Given the description of an element on the screen output the (x, y) to click on. 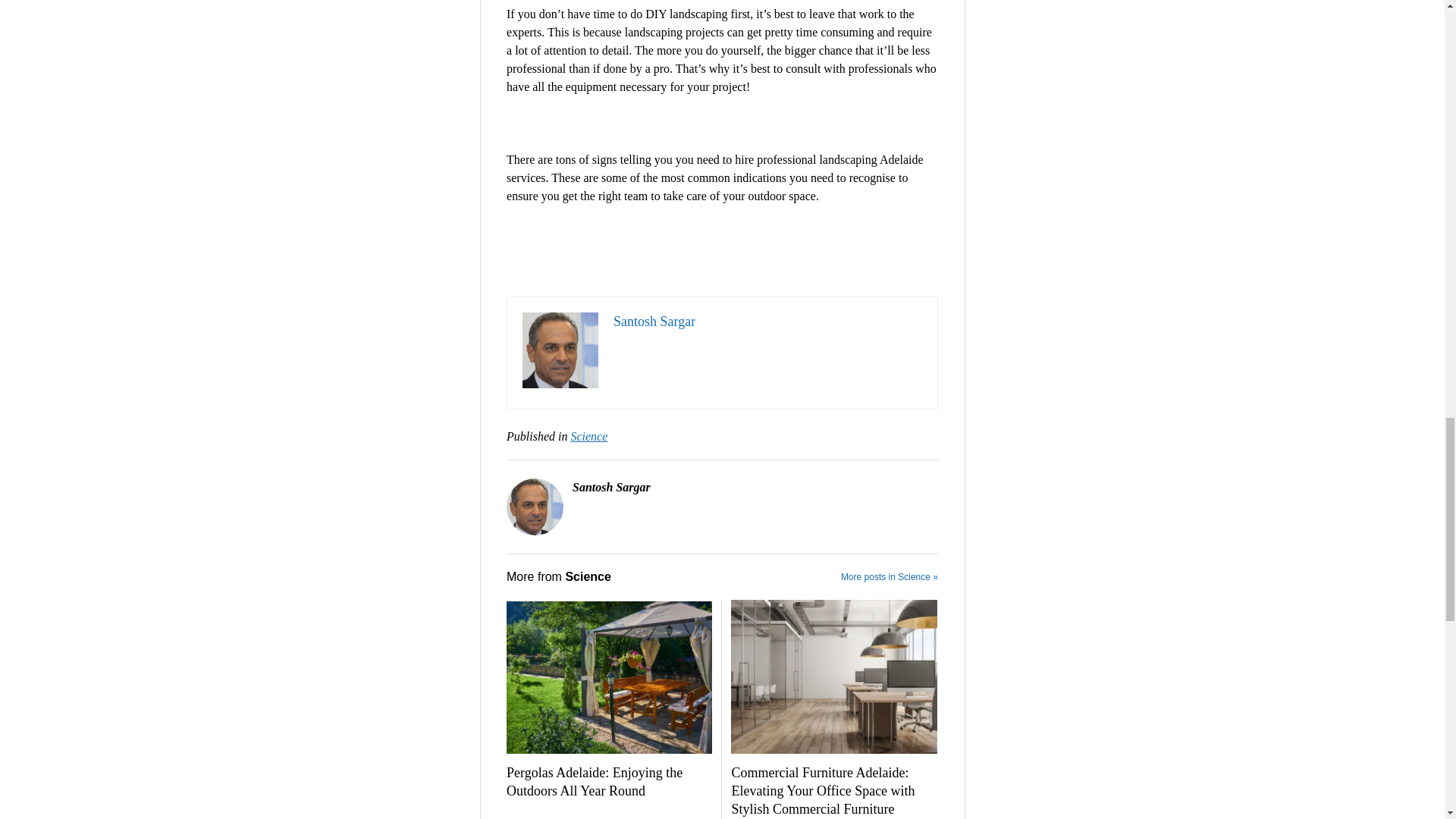
View all posts in Science (588, 436)
Adelaide pergolas (608, 676)
Science (588, 436)
Pergolas Adelaide: Enjoying the Outdoors All Year Round (608, 782)
Santosh Sargar (653, 321)
commercial furniture Adelaide (833, 676)
